Given the description of an element on the screen output the (x, y) to click on. 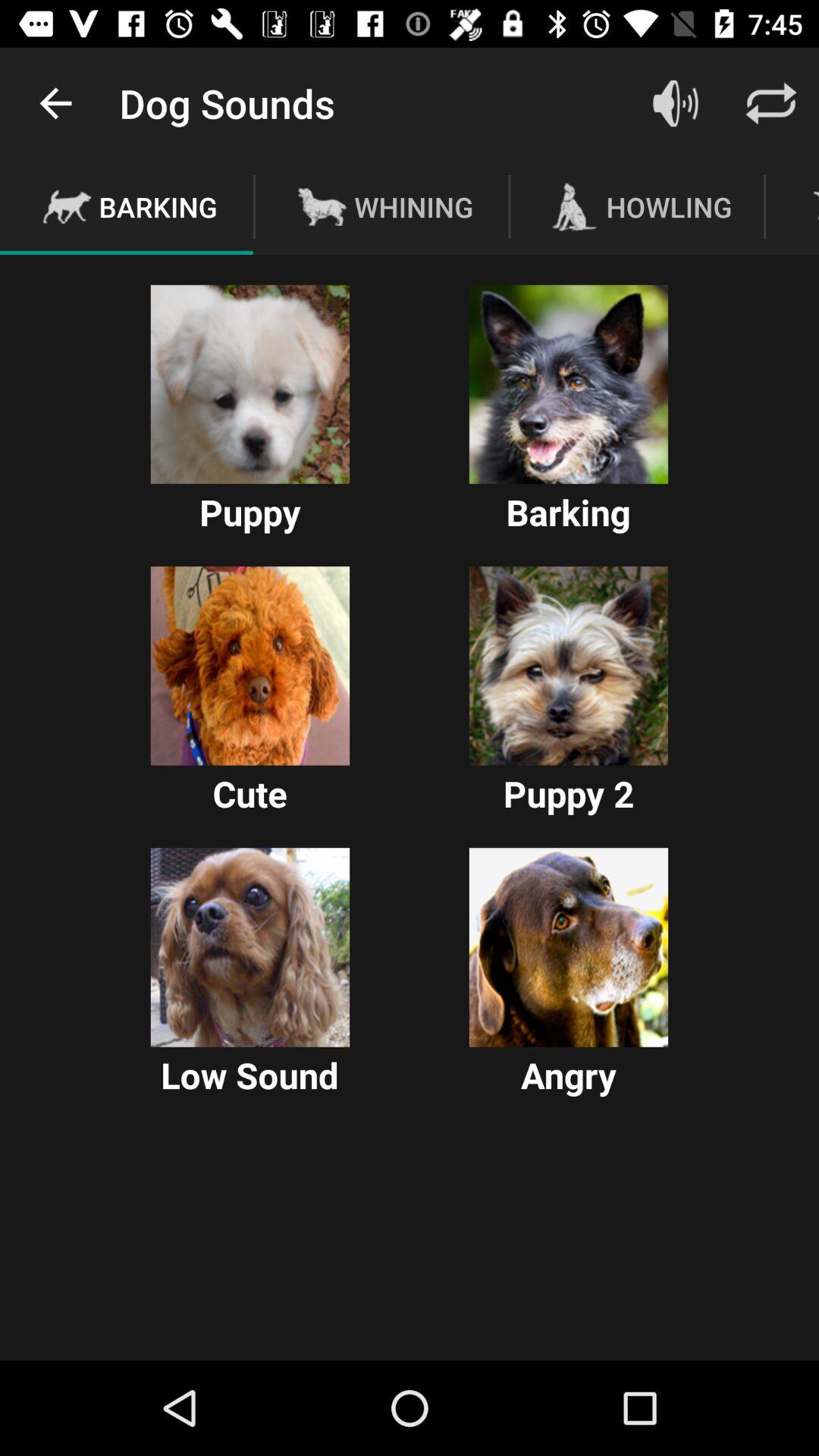
mute and unmute (675, 103)
